Given the description of an element on the screen output the (x, y) to click on. 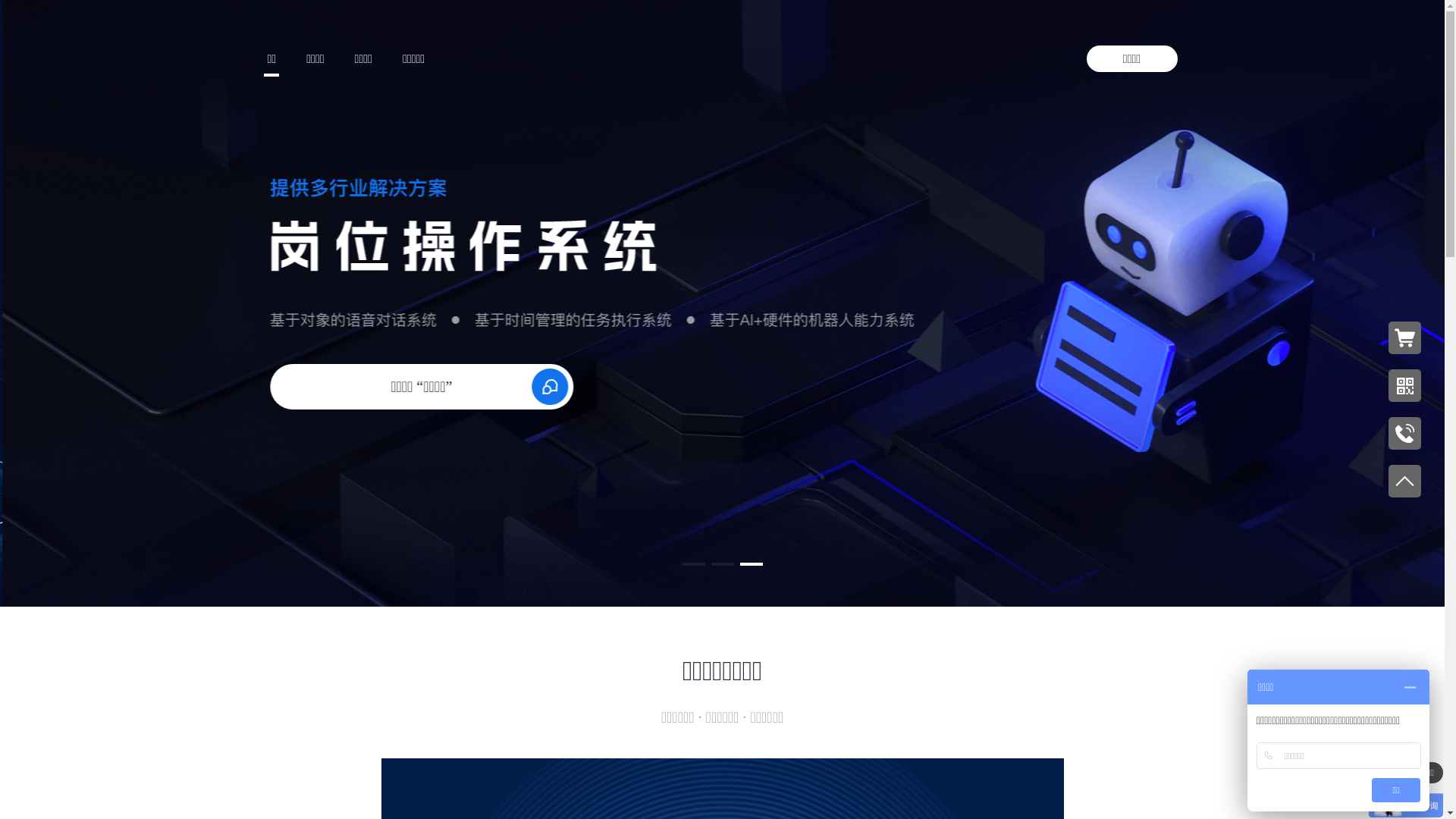
admin Element type: hover (971, 715)
html Element type: text (516, 297)
admin Element type: hover (323, 715)
wordpress Element type: text (474, 297)
admin Element type: hover (755, 715)
admin Element type: hover (539, 715)
